Given the description of an element on the screen output the (x, y) to click on. 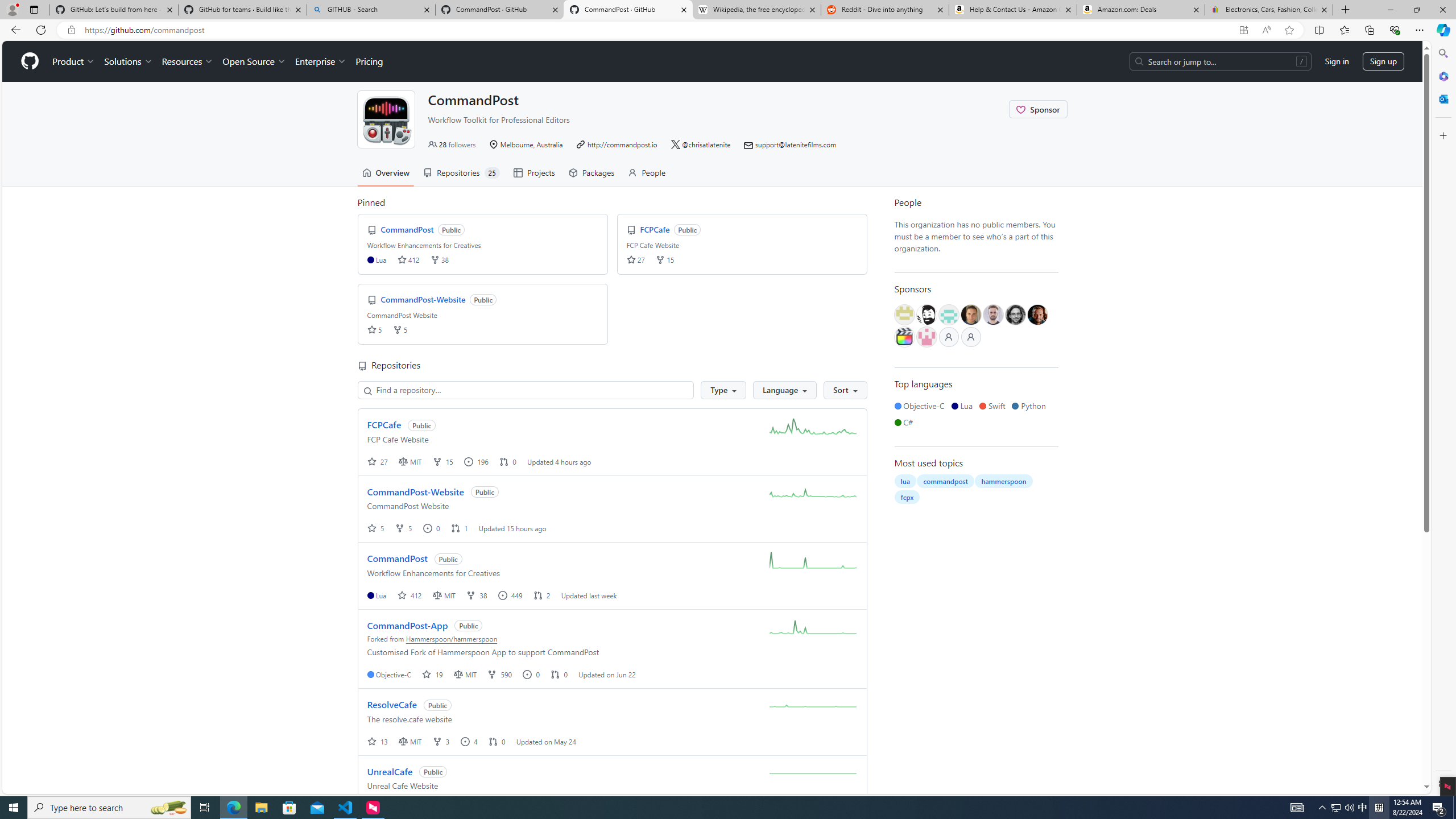
Projects (533, 172)
Sponsor @CommandPost (1038, 108)
stars 412 (408, 259)
Packages (590, 172)
stars 5 (373, 329)
@wtembundit (903, 314)
Resources (187, 60)
@samplue (992, 314)
@thermidorthelobster (925, 336)
fcpx (906, 496)
